Given the description of an element on the screen output the (x, y) to click on. 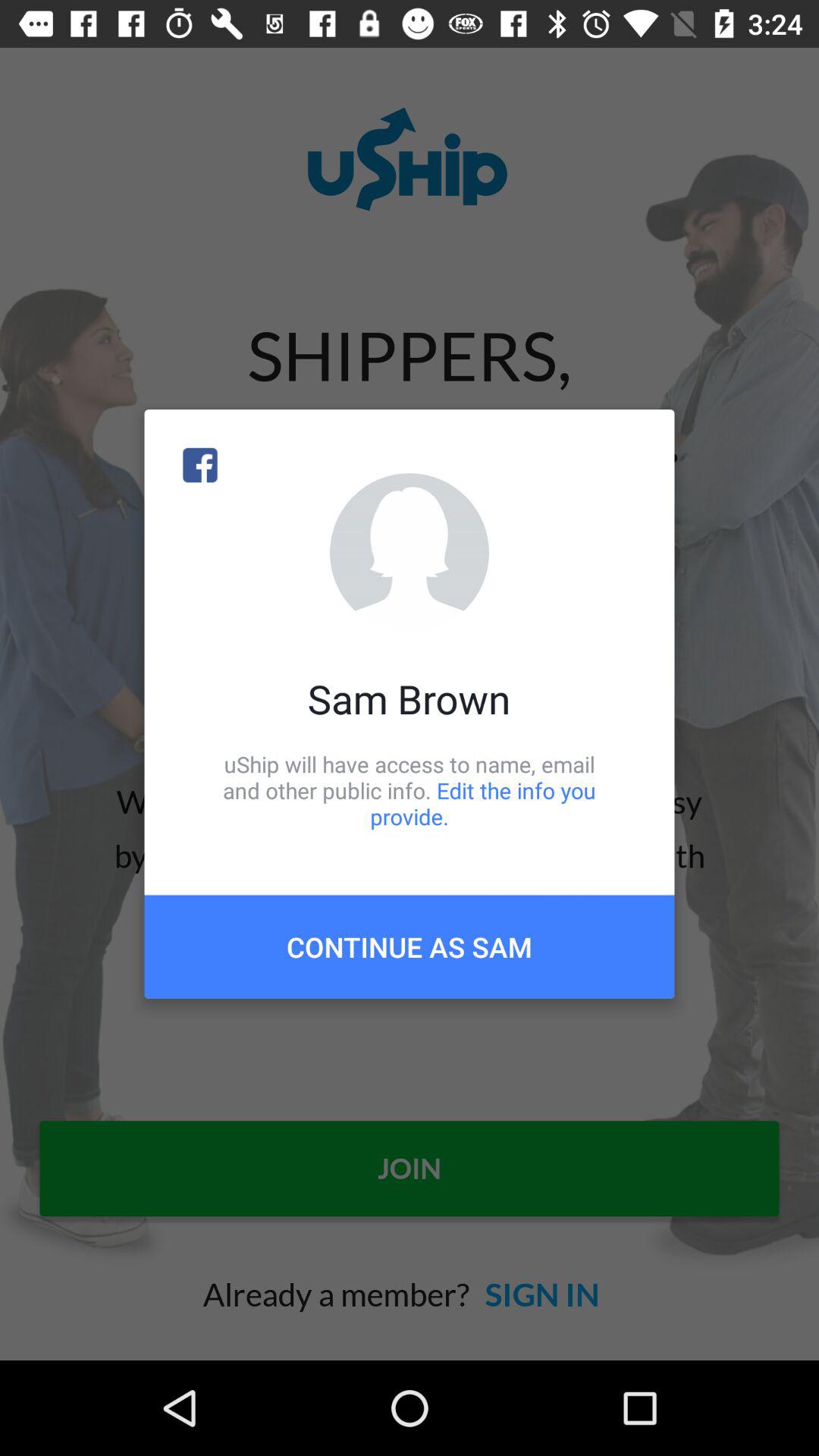
scroll until the uship will have (409, 790)
